Given the description of an element on the screen output the (x, y) to click on. 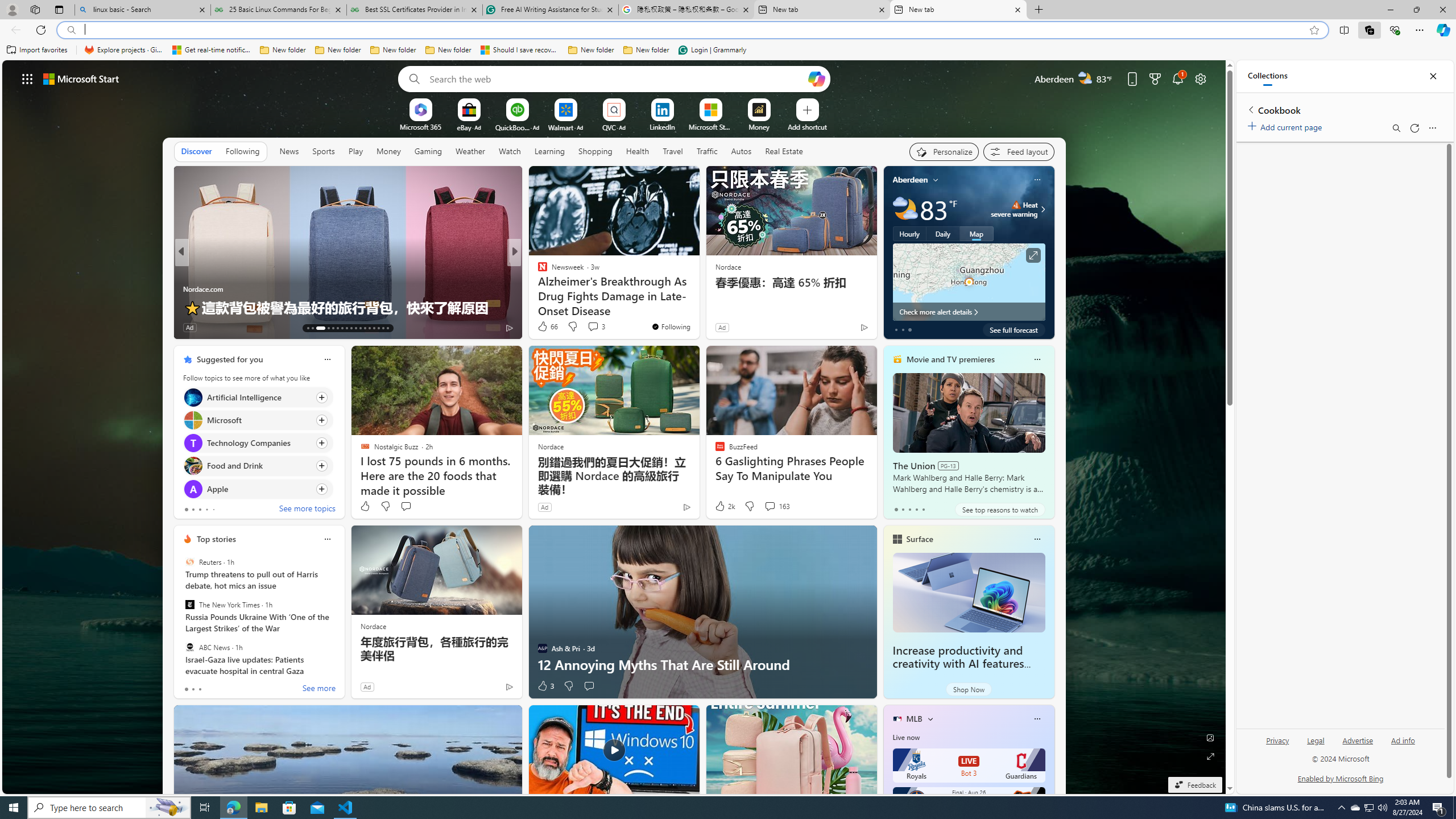
Click to follow topic Food and Drink (257, 465)
PC World (537, 270)
View comments 115 Comment (592, 327)
AutomationID: tab-21 (350, 328)
Traffic (706, 151)
MLB (914, 718)
View comments 3 Comment (592, 326)
Health (637, 151)
Class: control (27, 78)
